Given the description of an element on the screen output the (x, y) to click on. 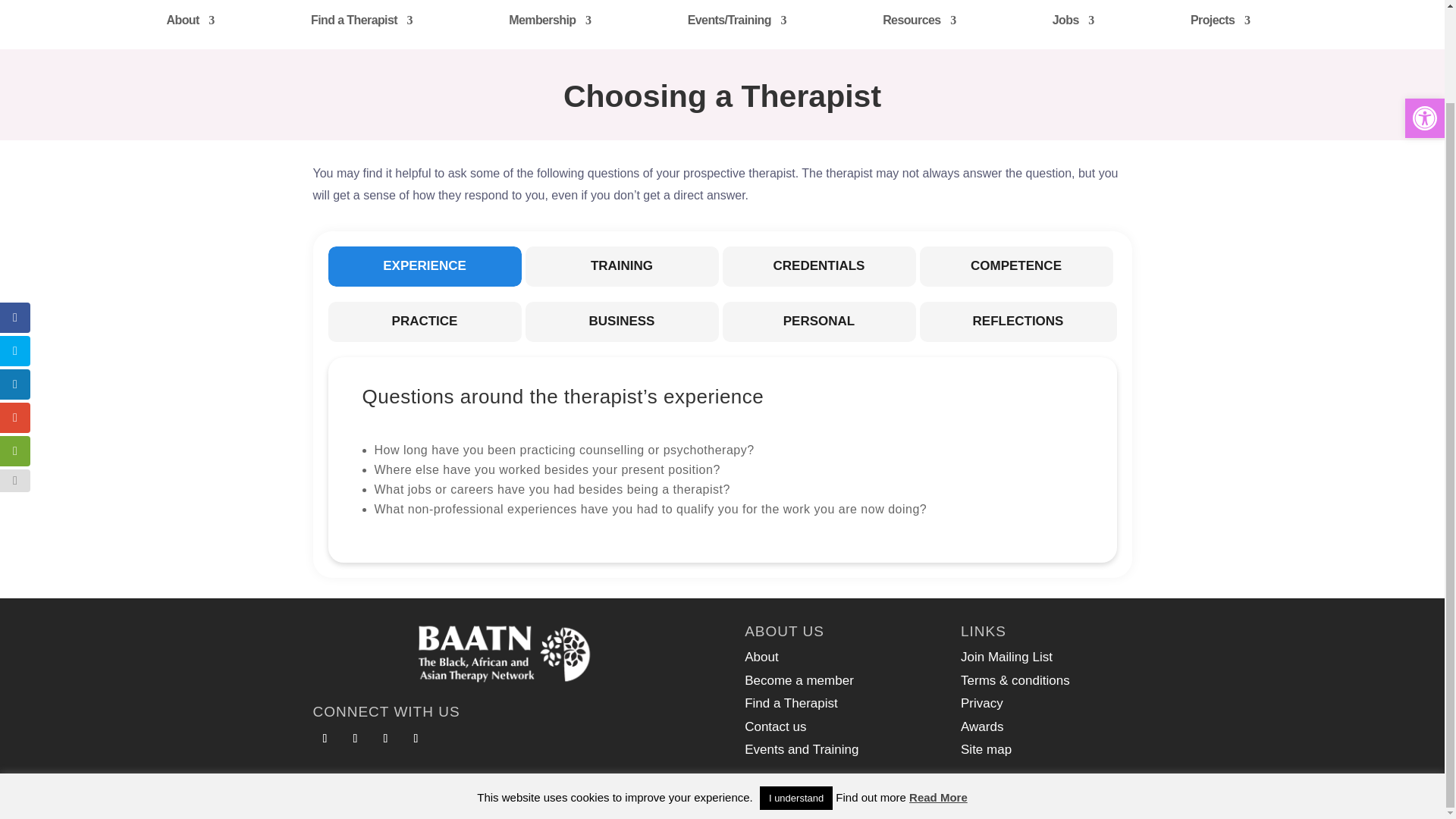
About (190, 24)
Find a Therapist (361, 24)
Follow on Facebook (324, 738)
Accessibility Tools (1424, 11)
Follow on Instagram (415, 738)
Follow on X (354, 738)
BAATNLogoOptimaTheOne-Transparent (506, 654)
Follow on LinkedIn (384, 738)
Membership (549, 24)
